Given the description of an element on the screen output the (x, y) to click on. 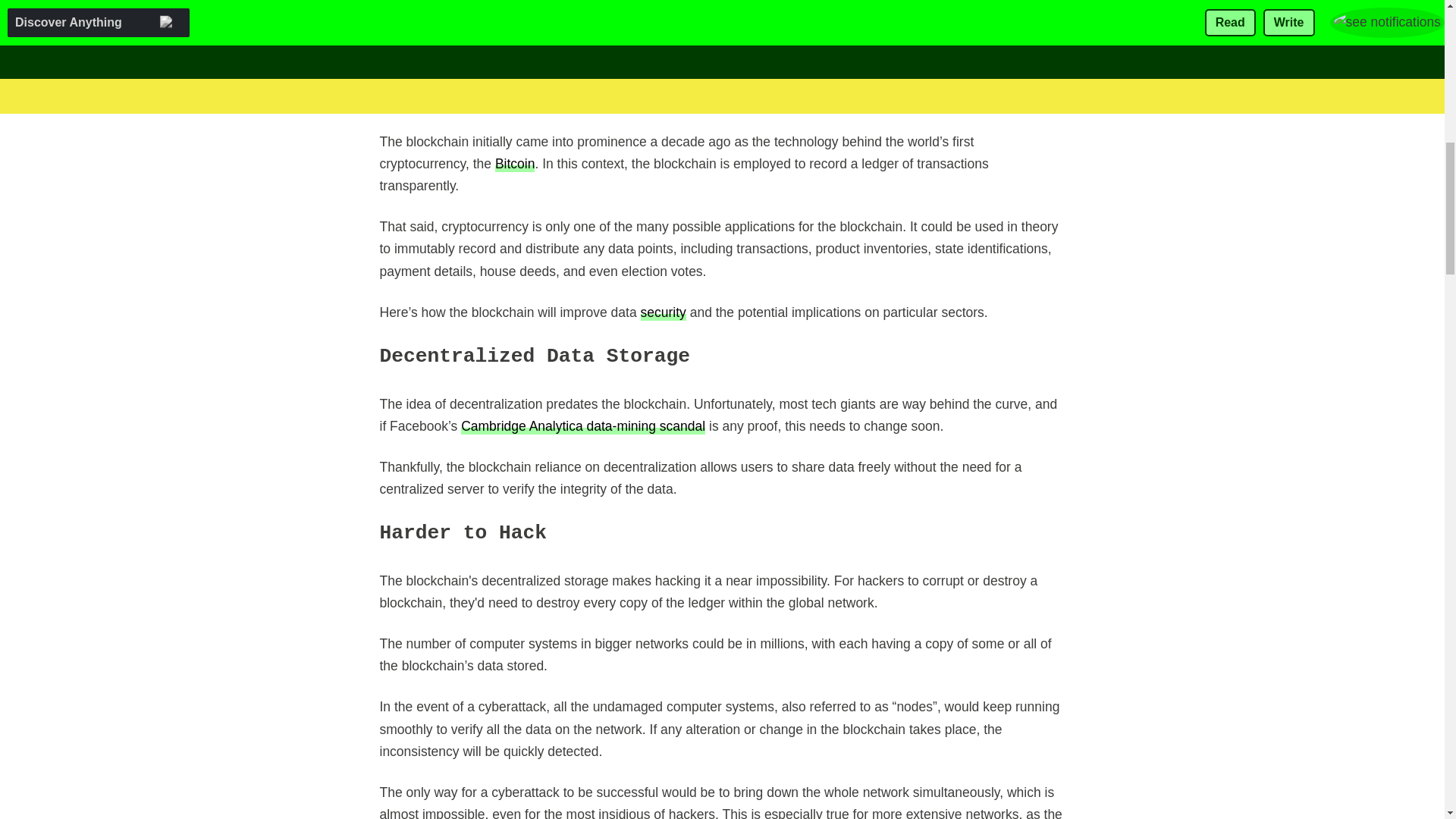
Cambridge Analytica data-mining scandal (582, 425)
Stuart Haber and W. Scott Stornetta (878, 77)
Bitcoin (515, 162)
security (662, 312)
